Given the description of an element on the screen output the (x, y) to click on. 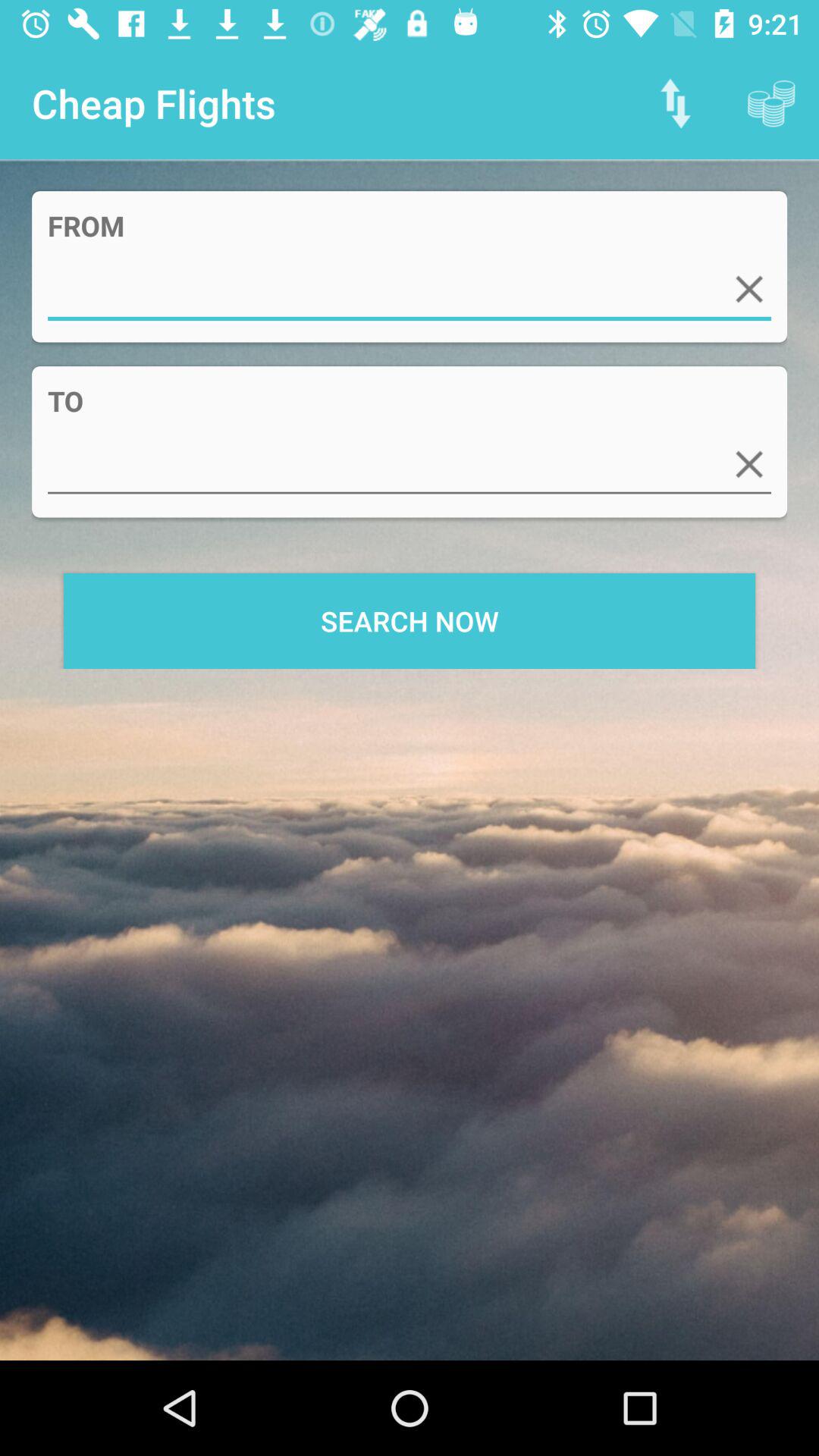
press the app above to (749, 289)
